Given the description of an element on the screen output the (x, y) to click on. 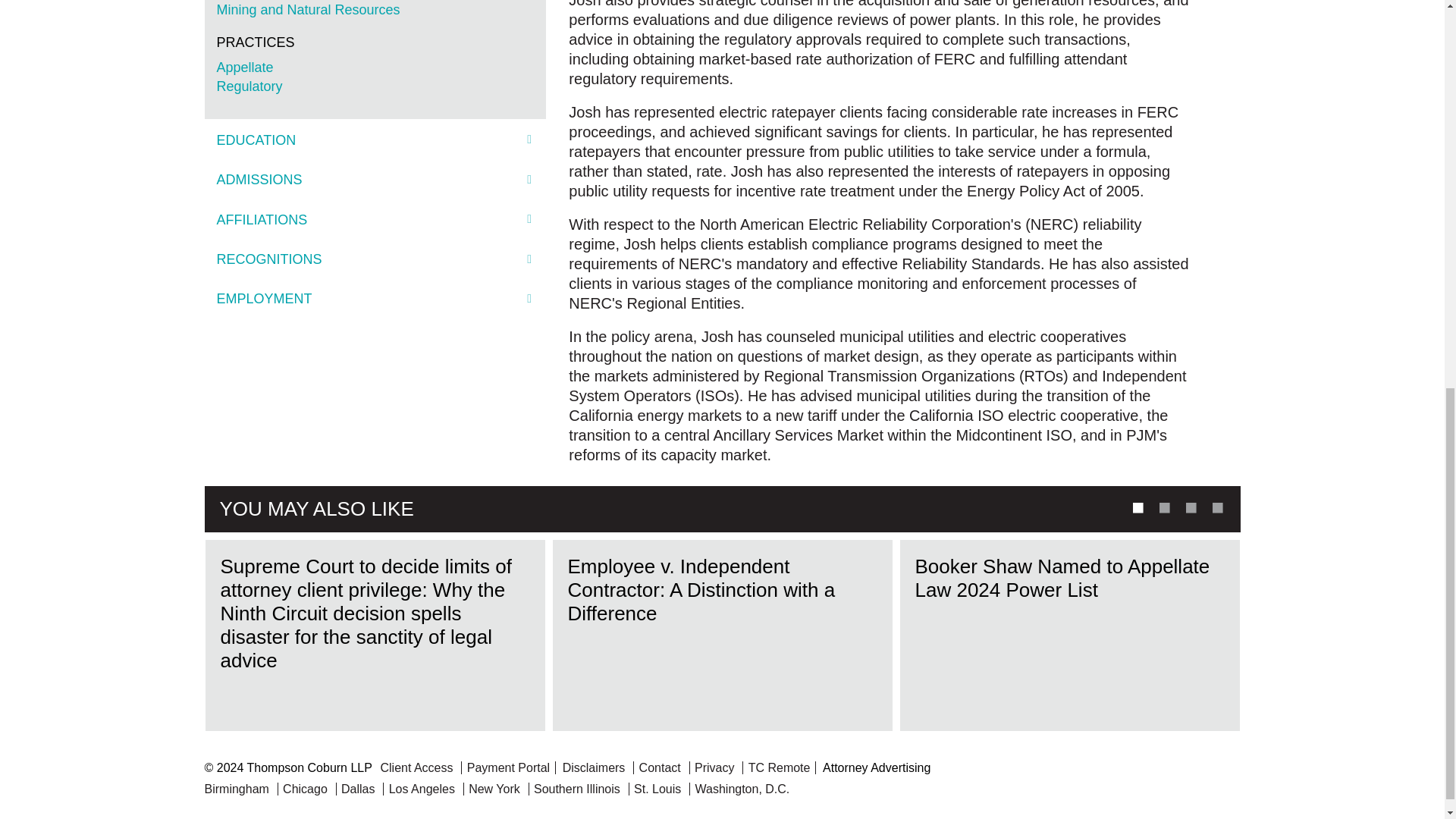
4 (1216, 506)
Booker Shaw Named to Appellate Law 2024 Power List (1069, 635)
1 (1135, 506)
Mining and Natural Resources (308, 9)
Regulatory (249, 86)
2 (1162, 506)
Appellate (244, 67)
3 (1189, 506)
